Given the description of an element on the screen output the (x, y) to click on. 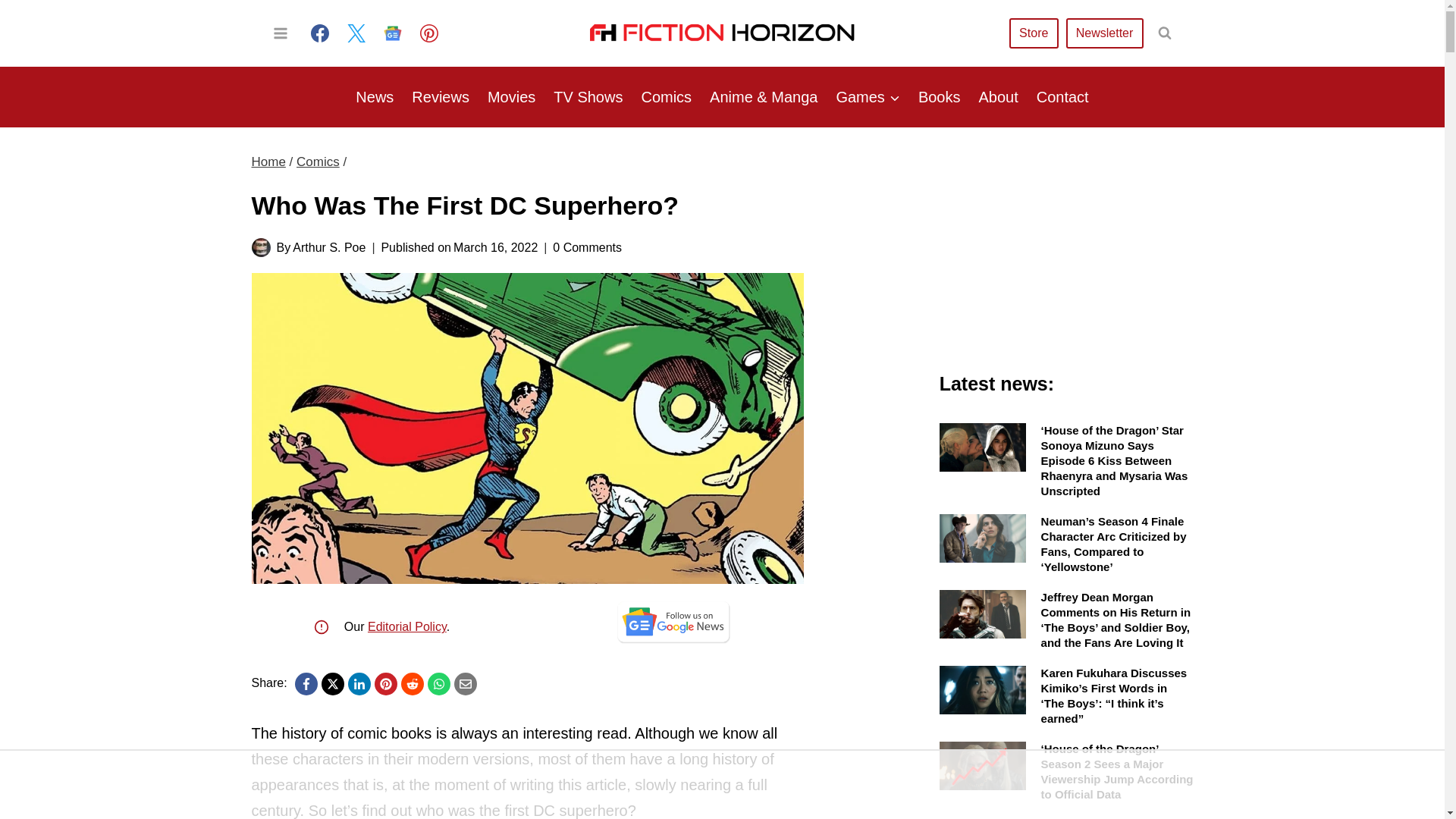
TV Shows (587, 96)
Comics (318, 161)
Movies (511, 96)
Arthur S. Poe (328, 246)
News (374, 96)
Contact (1062, 96)
Comics (665, 96)
Newsletter (1103, 32)
Store (1033, 32)
Games (867, 96)
Home (268, 161)
Editorial Policy (407, 626)
